Given the description of an element on the screen output the (x, y) to click on. 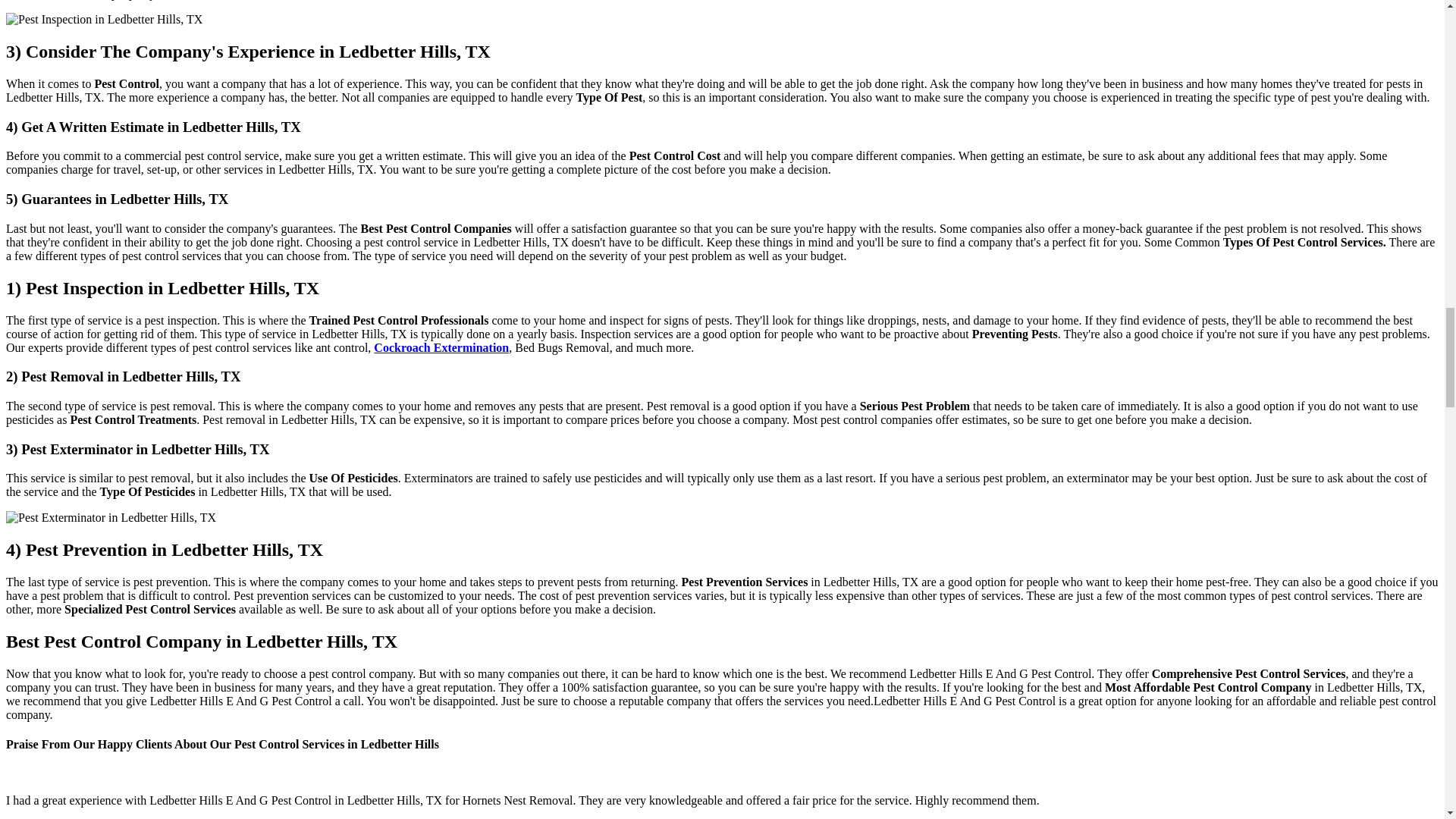
Cockroach Extermination (441, 347)
